Given the description of an element on the screen output the (x, y) to click on. 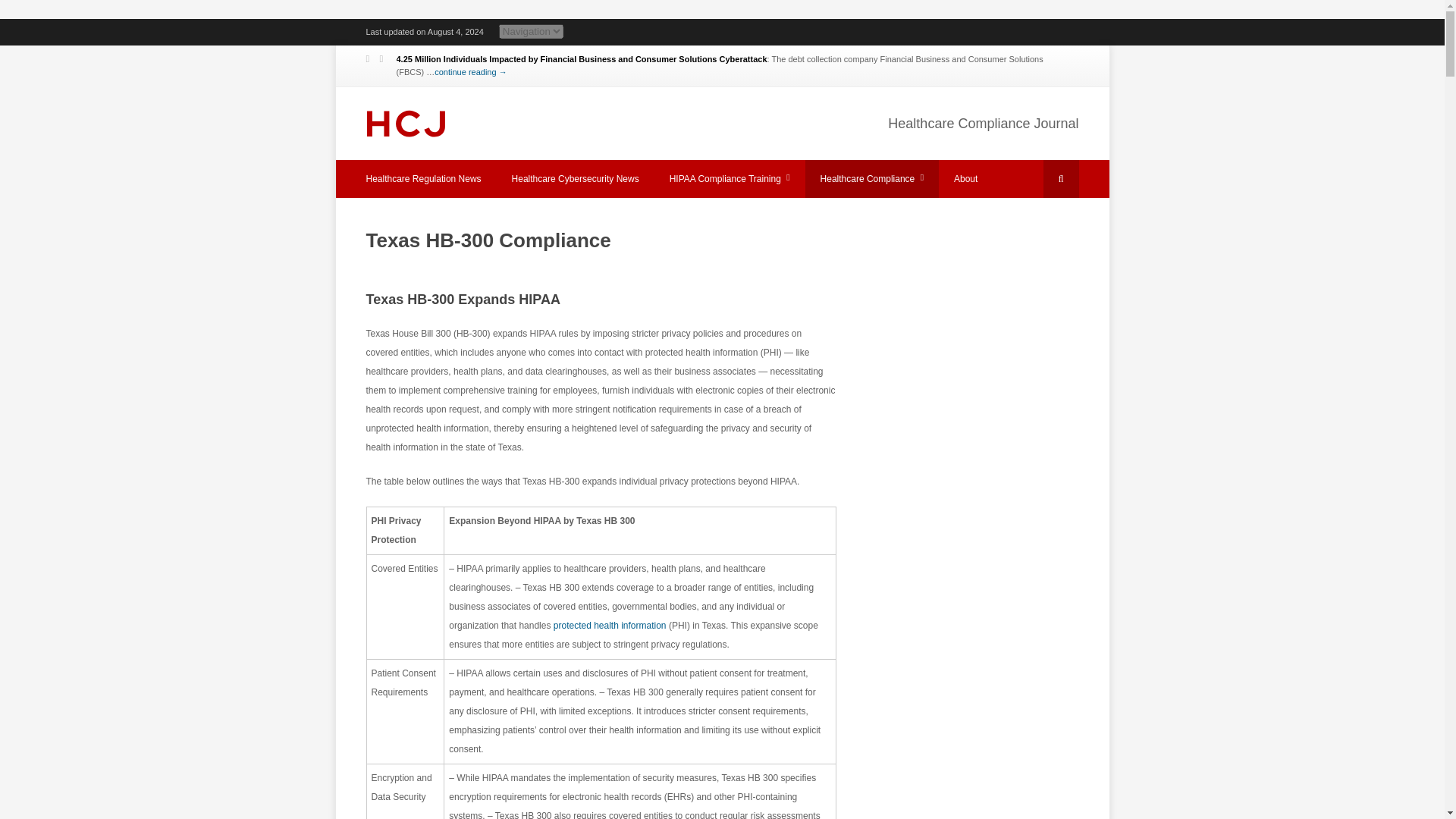
HIPAA Compliance Training (729, 178)
Healthcare Cybersecurity News (574, 178)
Healthcare Regulation News (423, 178)
Healthcare Compliance (872, 178)
Toggle Search (1060, 178)
protected health information (609, 624)
continue reading (469, 71)
About (965, 178)
